Given the description of an element on the screen output the (x, y) to click on. 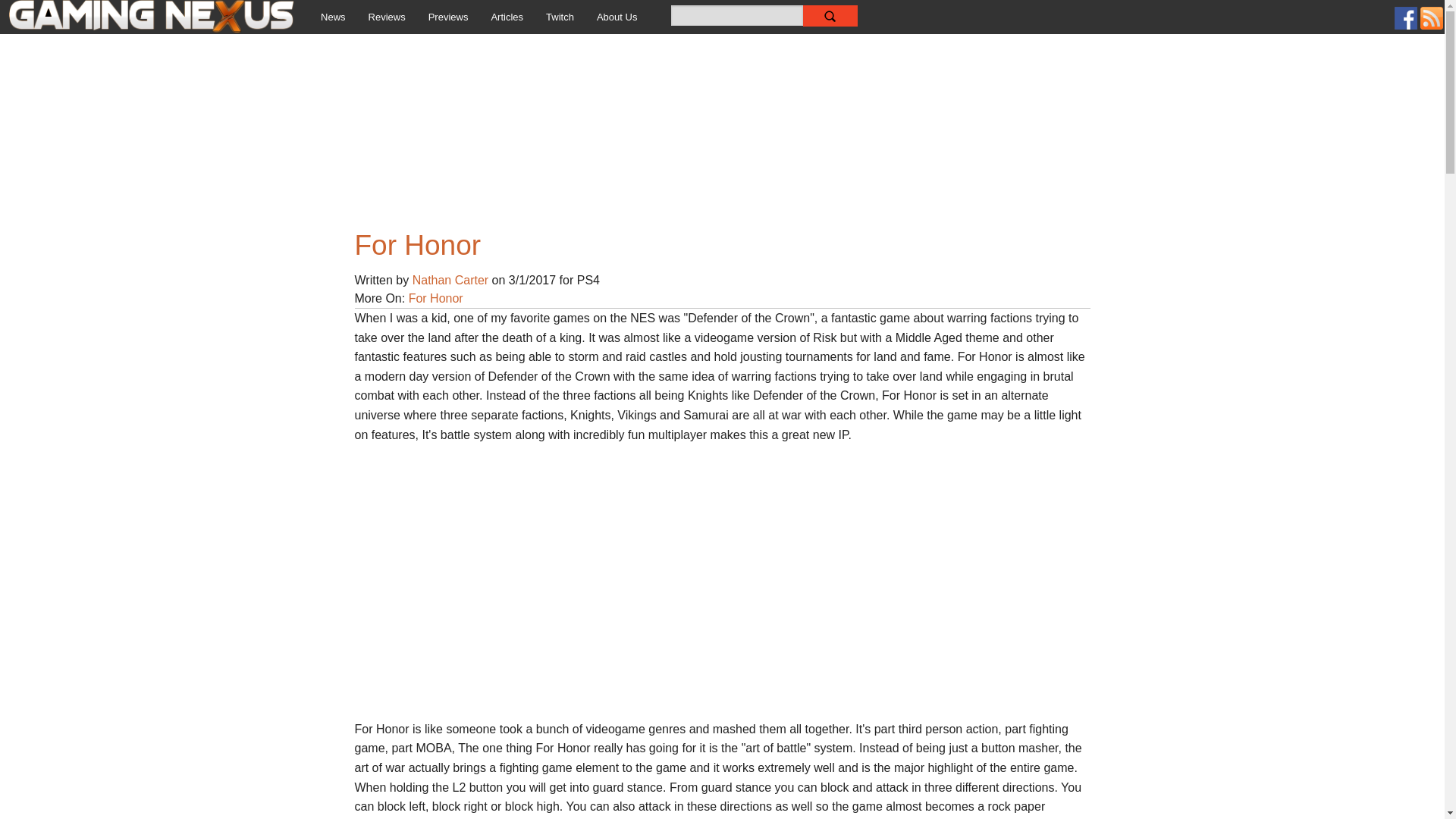
For Honor (436, 297)
Previews (448, 17)
About Us (616, 17)
Reviews (386, 17)
Nathan Carter (450, 279)
Twitch (559, 17)
Articles (506, 17)
News (332, 17)
